Given the description of an element on the screen output the (x, y) to click on. 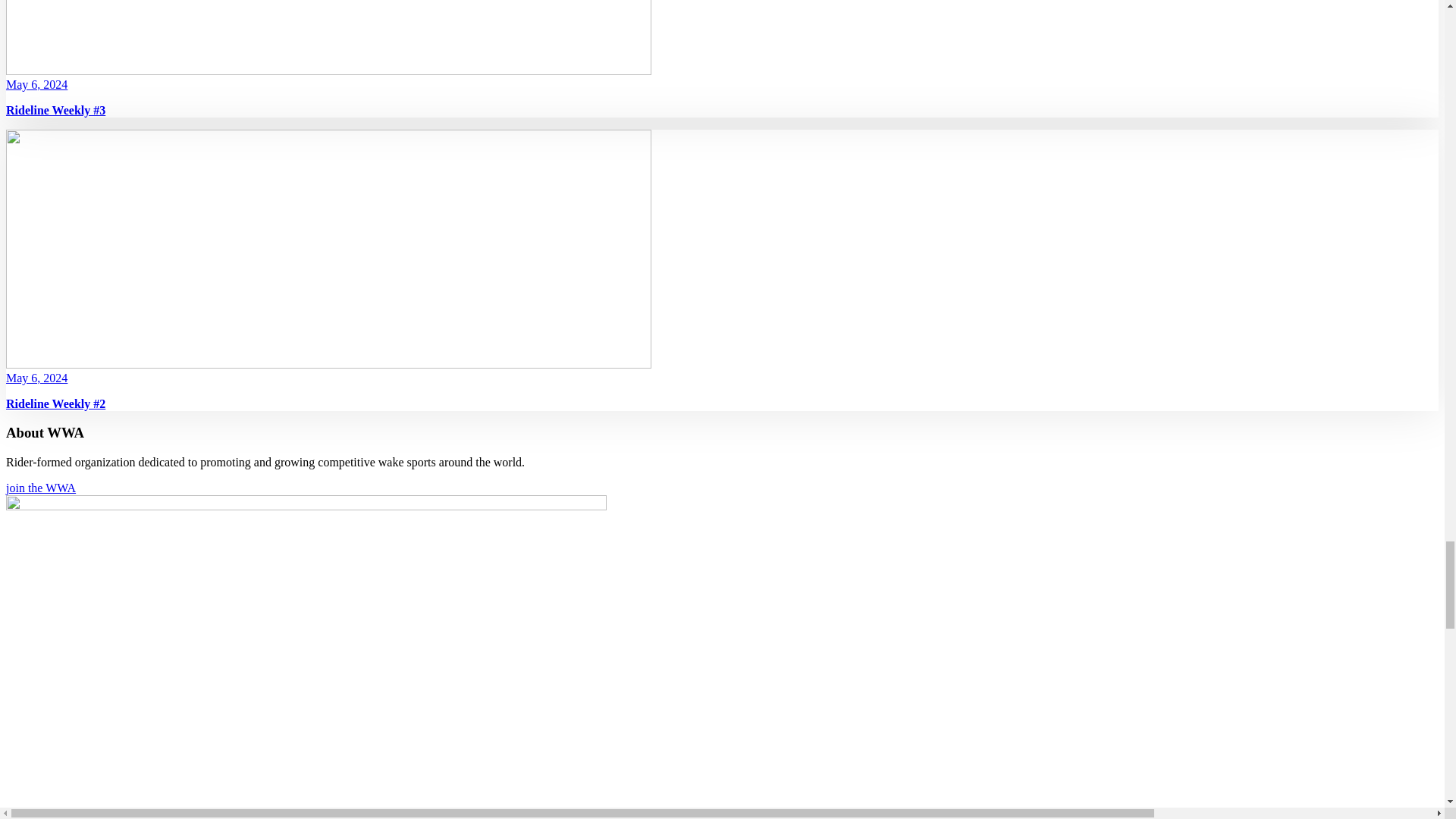
Rideline Weekly Template-3 (327, 37)
